Given the description of an element on the screen output the (x, y) to click on. 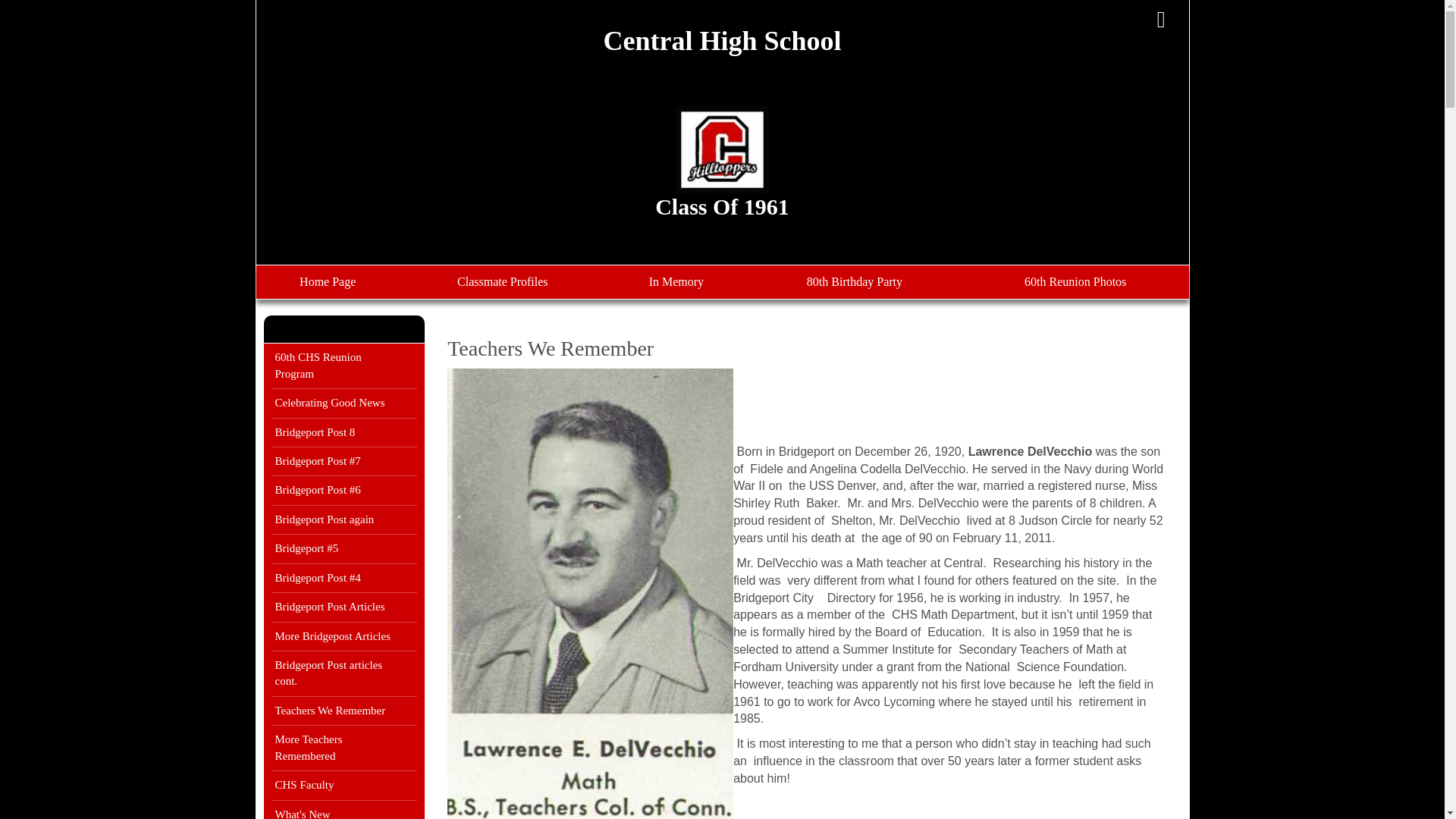
Classmate Login (1160, 20)
